Given the description of an element on the screen output the (x, y) to click on. 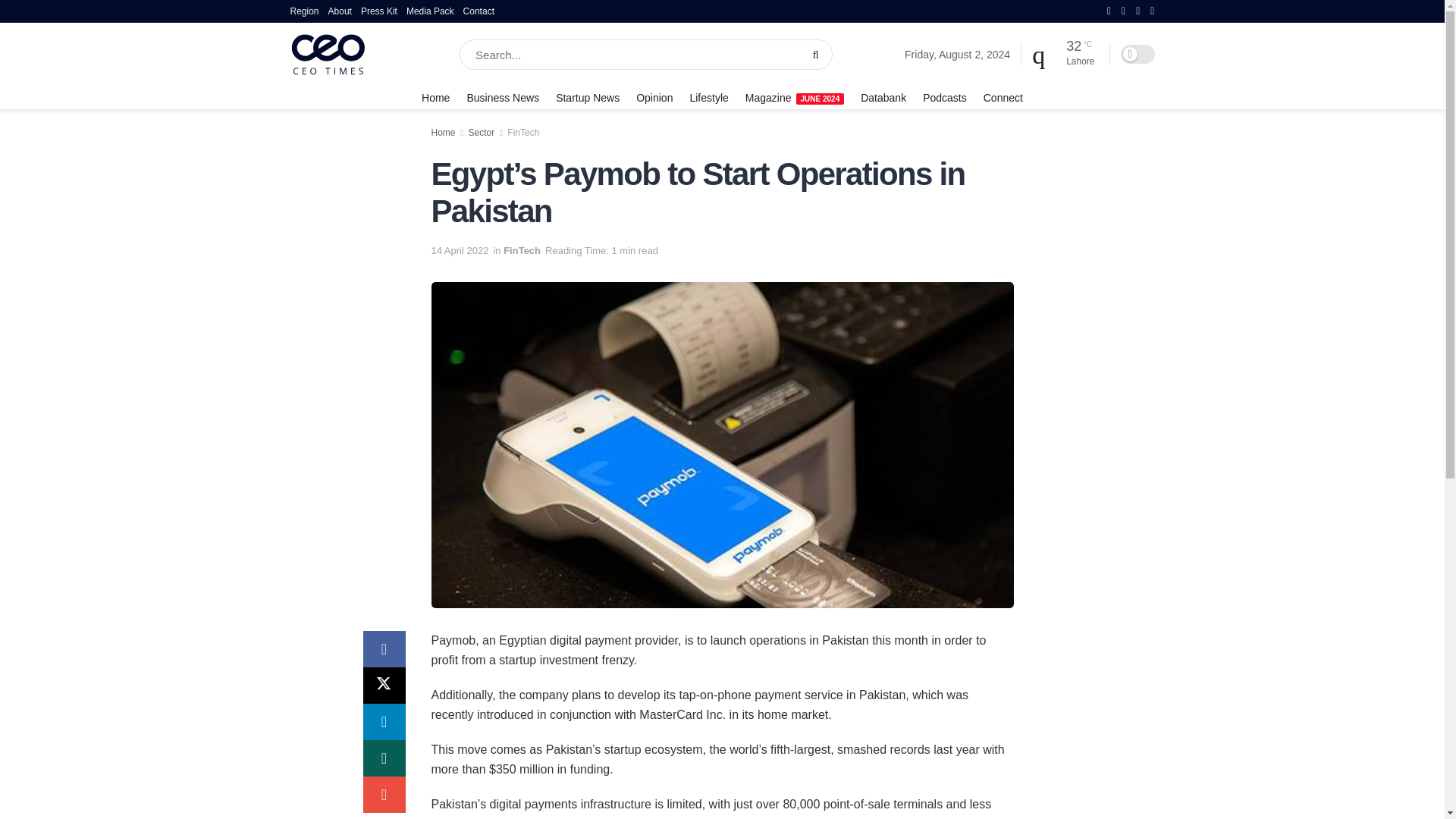
Opinion (654, 97)
Podcasts (944, 97)
Connect (1003, 97)
Region (303, 11)
Business News (501, 97)
Startup News (588, 97)
Databank (882, 97)
Contact (479, 11)
Lifestyle (708, 97)
Home (435, 97)
